Given the description of an element on the screen output the (x, y) to click on. 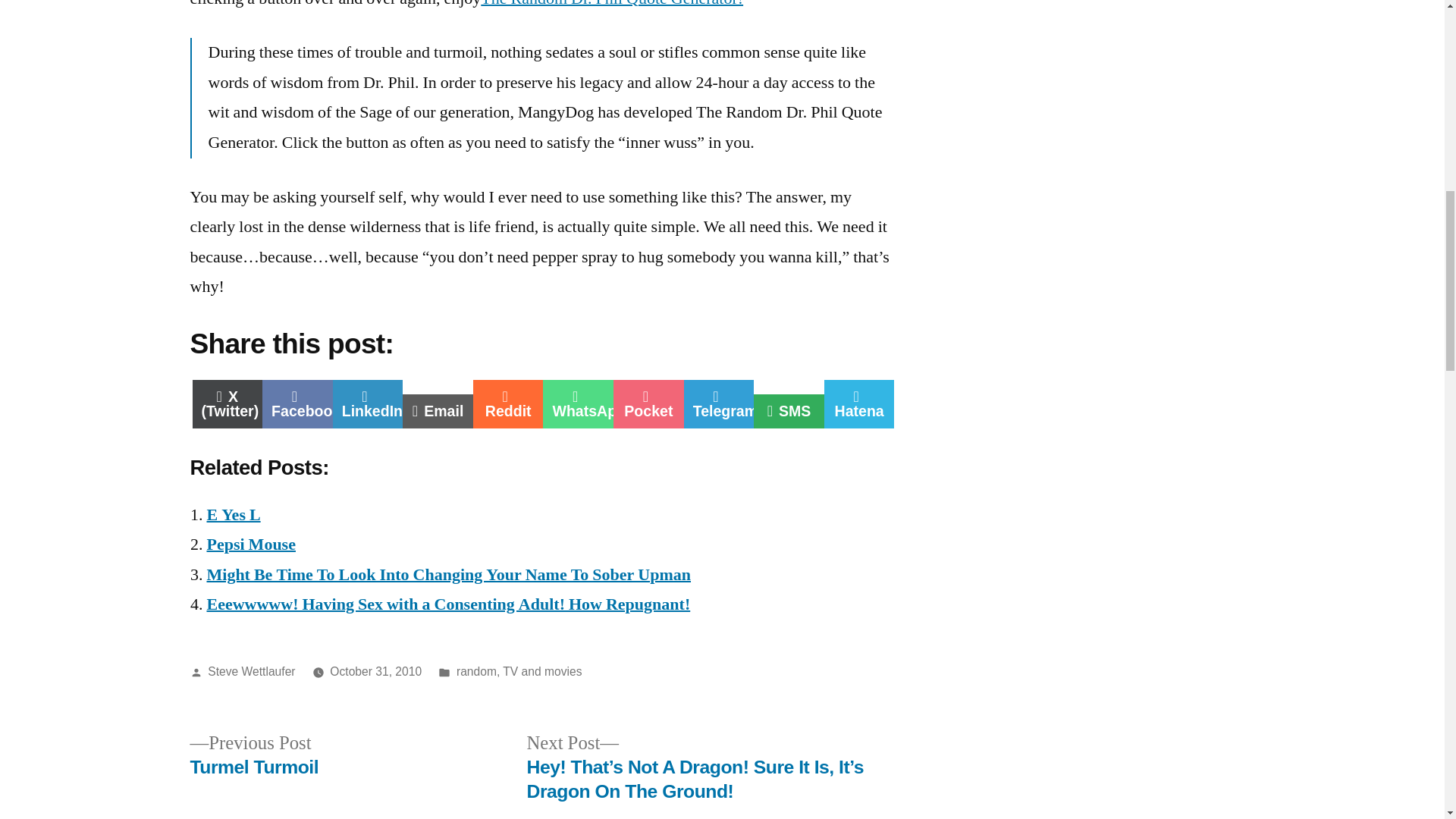
Pepsi Mouse (250, 544)
Steve Wettlaufer (368, 404)
Might Be Time To Look Into Changing Your Name To Sober Upman (251, 671)
Pepsi Mouse (448, 574)
The Random Dr. Phil Quote Generator! (250, 544)
E Yes L (611, 4)
Eeewwwww! Having Sex with a Consenting Adult! How Repugnant! (233, 514)
Might Be Time To Look Into Changing Your Name To Sober Upman (448, 604)
TV and movies (577, 404)
